Given the description of an element on the screen output the (x, y) to click on. 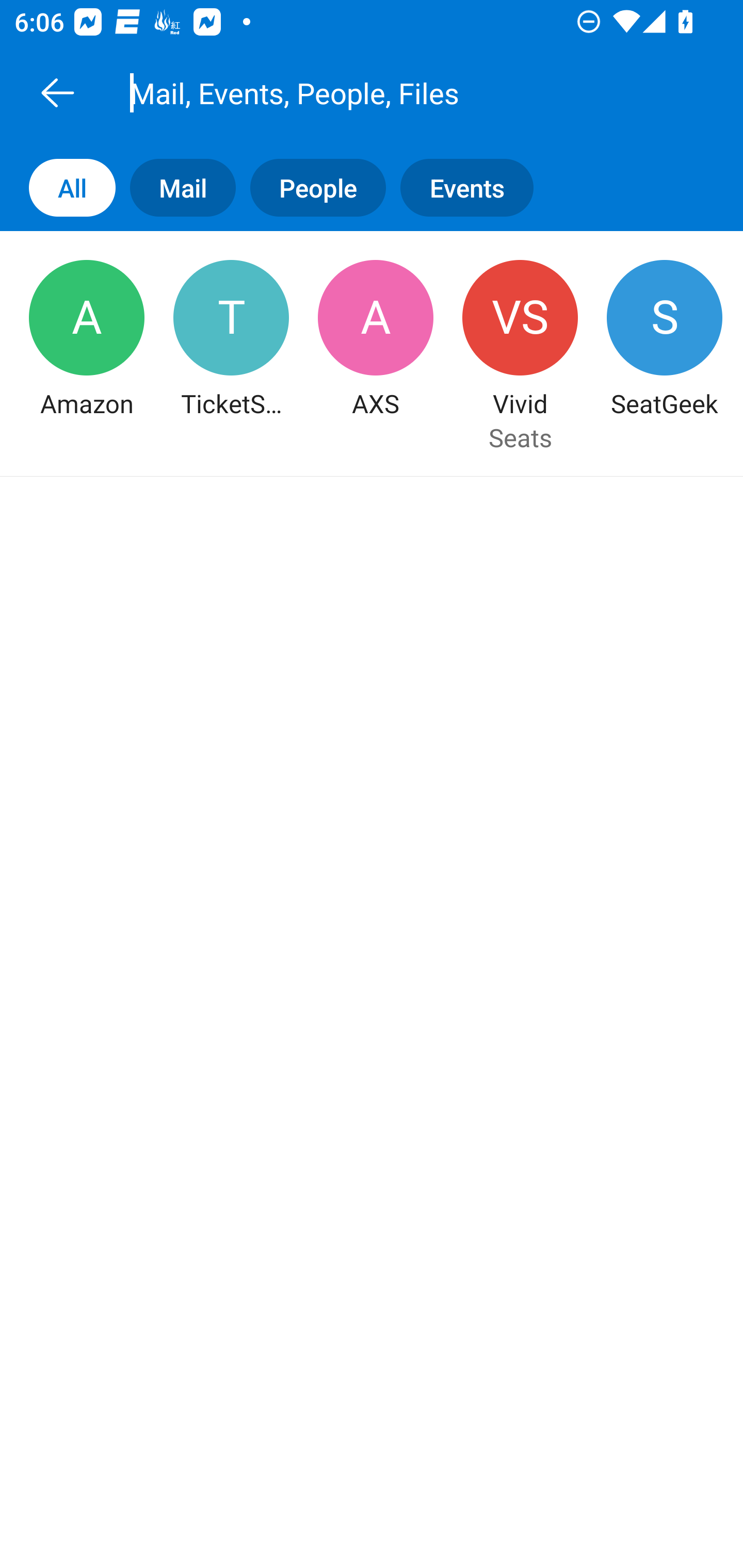
Back (57, 92)
Mail, Events, People, Files (394, 92)
Mail (175, 187)
People (310, 187)
Events (473, 187)
